Given the description of an element on the screen output the (x, y) to click on. 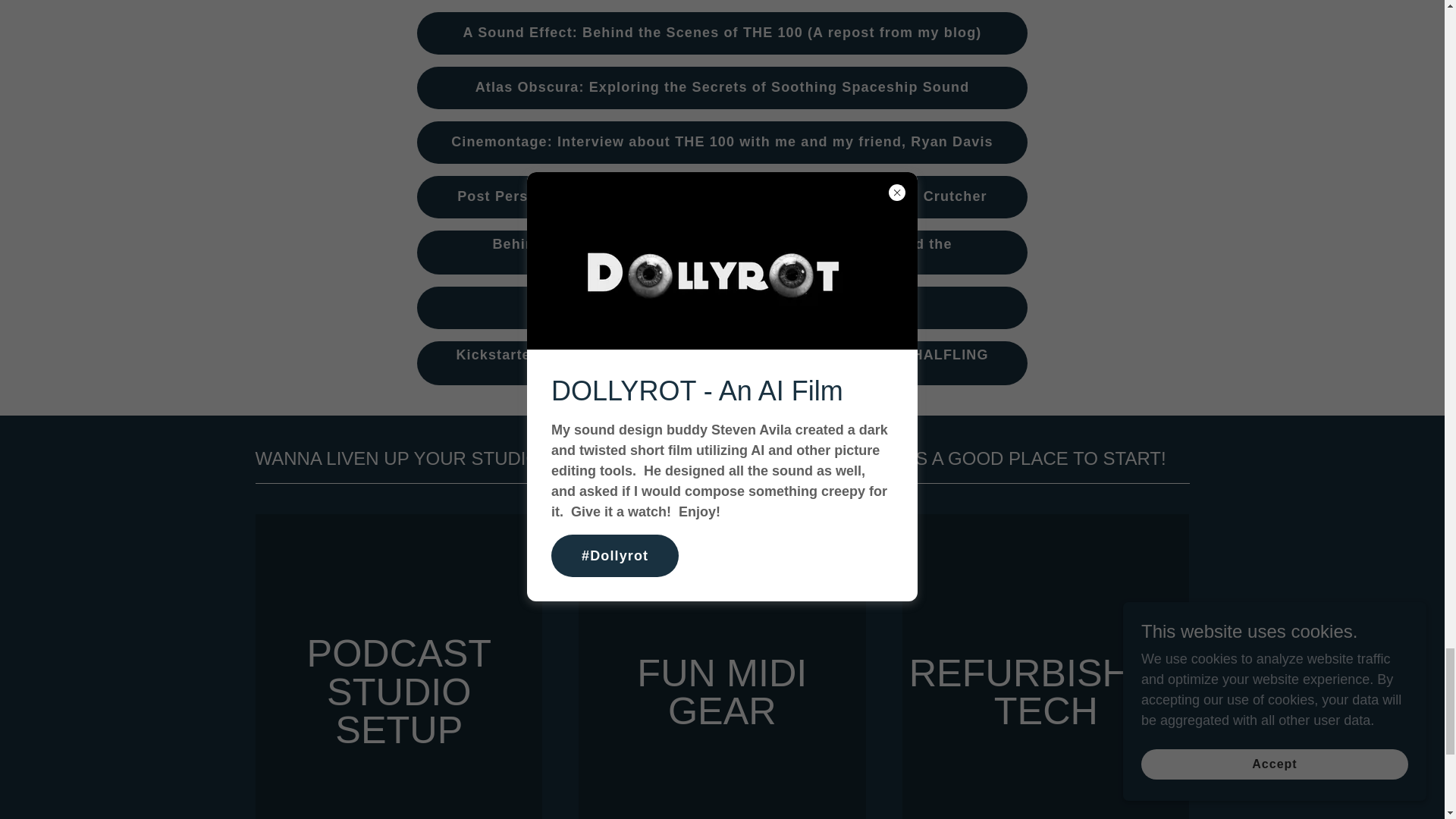
Post Magazine: SUSHI GIRL Interview (721, 307)
